Given the description of an element on the screen output the (x, y) to click on. 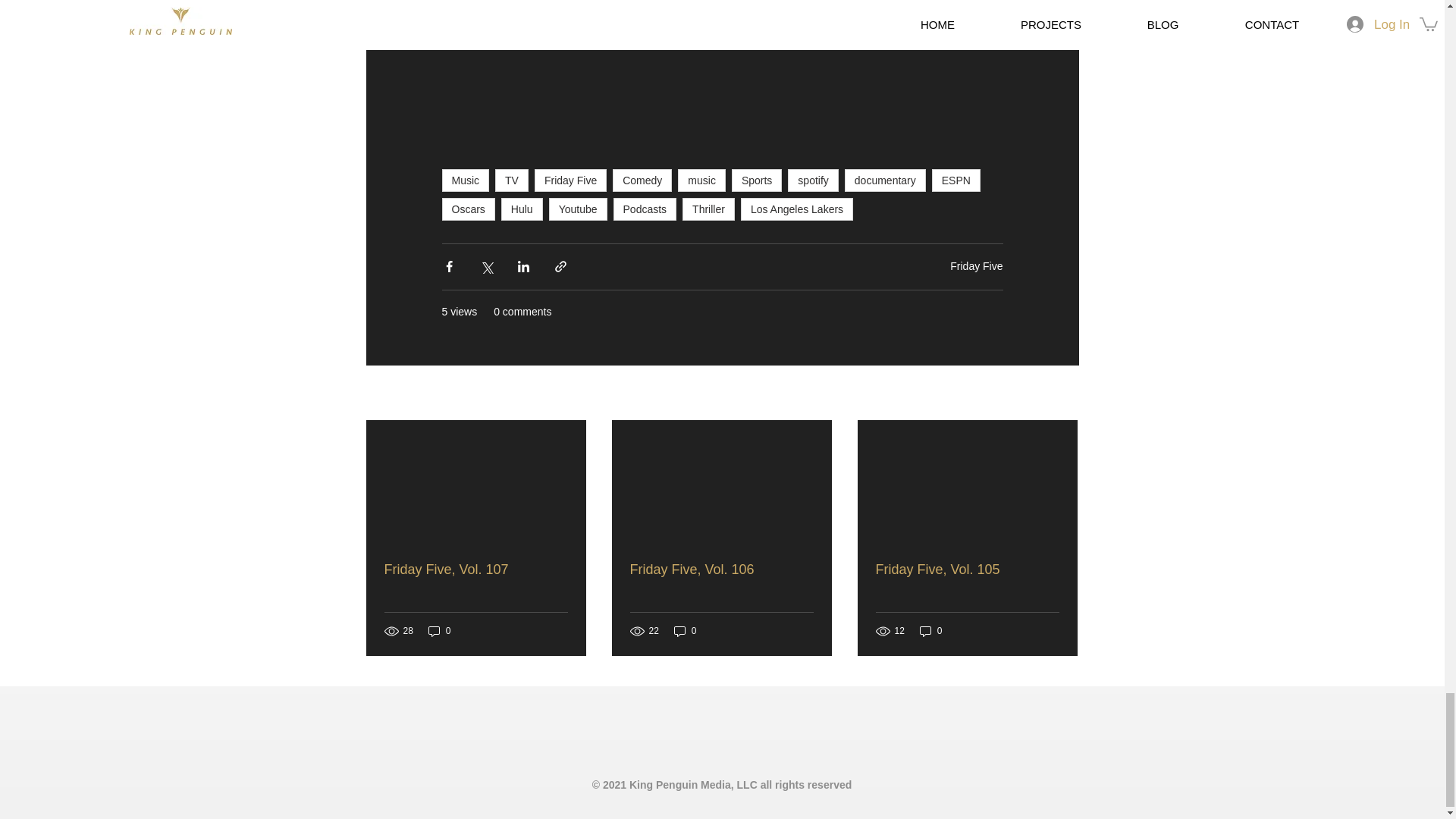
Podcasts (644, 209)
Los Angeles Lakers (797, 209)
ESPN (955, 179)
music (701, 179)
Comedy (641, 179)
spotify (812, 179)
Youtube (577, 209)
Music (465, 179)
TV (511, 179)
Sports (756, 179)
